Given the description of an element on the screen output the (x, y) to click on. 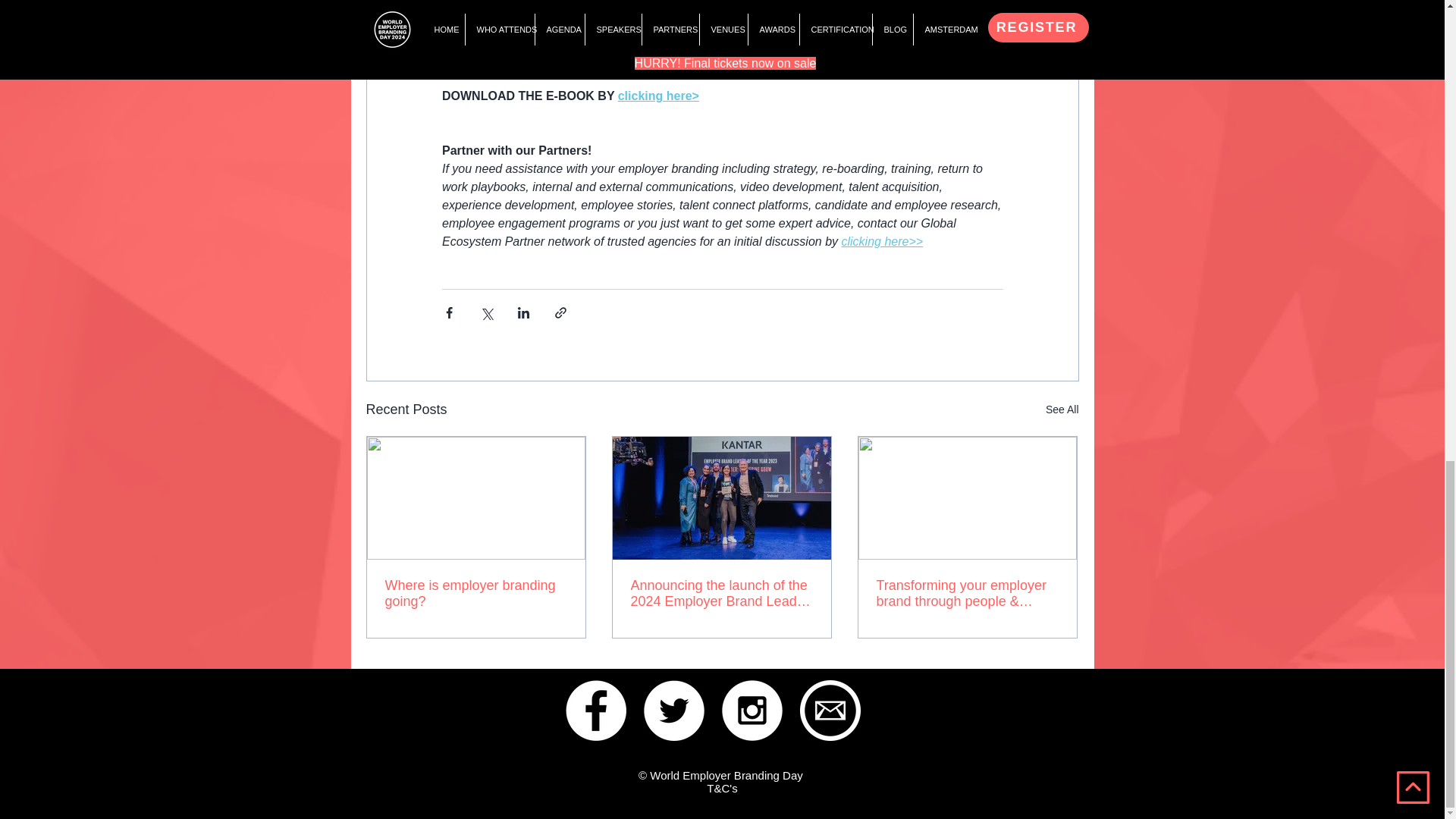
See All (1061, 409)
Where is employer branding going? (476, 593)
